Given the description of an element on the screen output the (x, y) to click on. 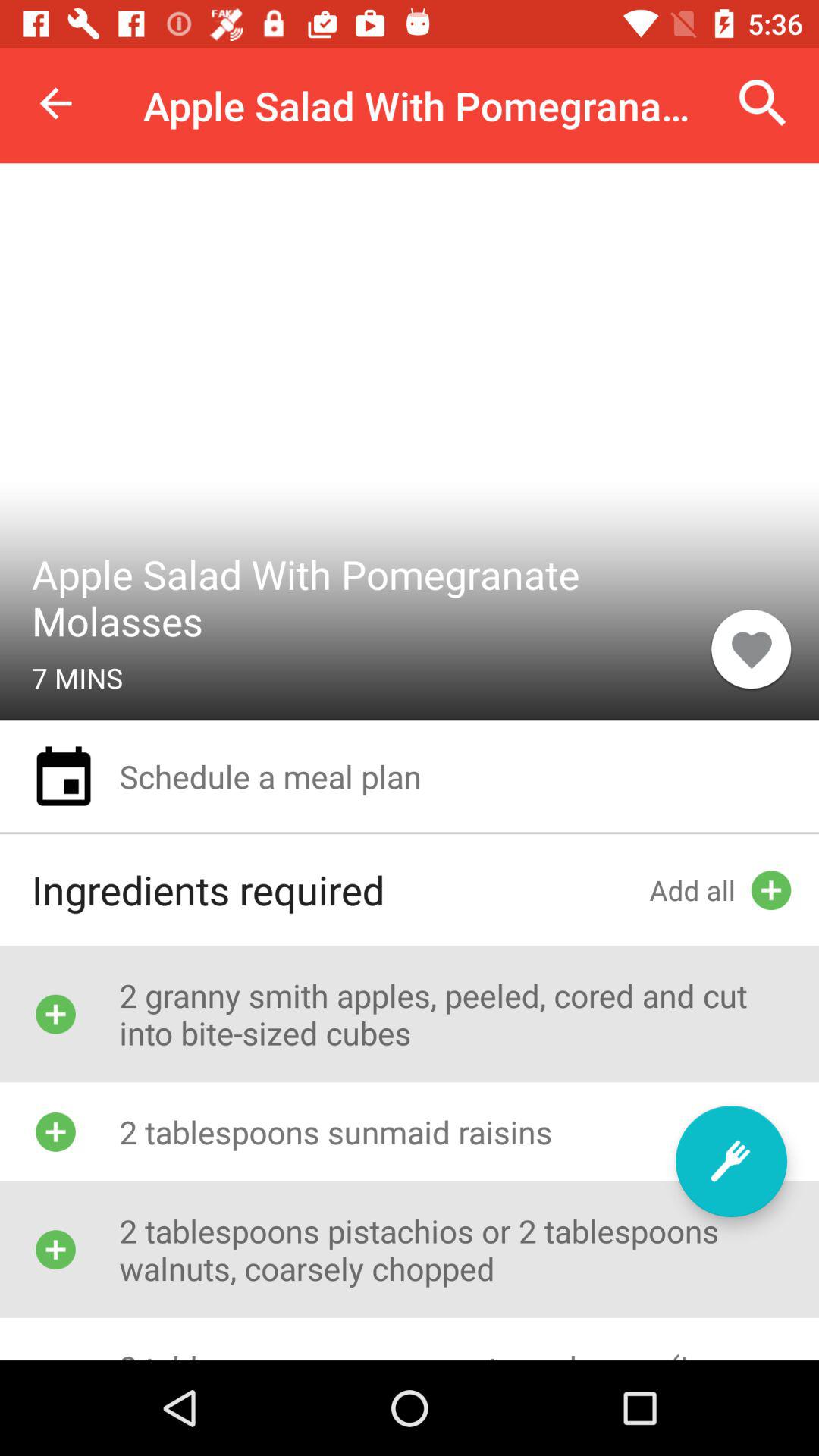
tap the icon to the right of apple salad with icon (763, 103)
